Given the description of an element on the screen output the (x, y) to click on. 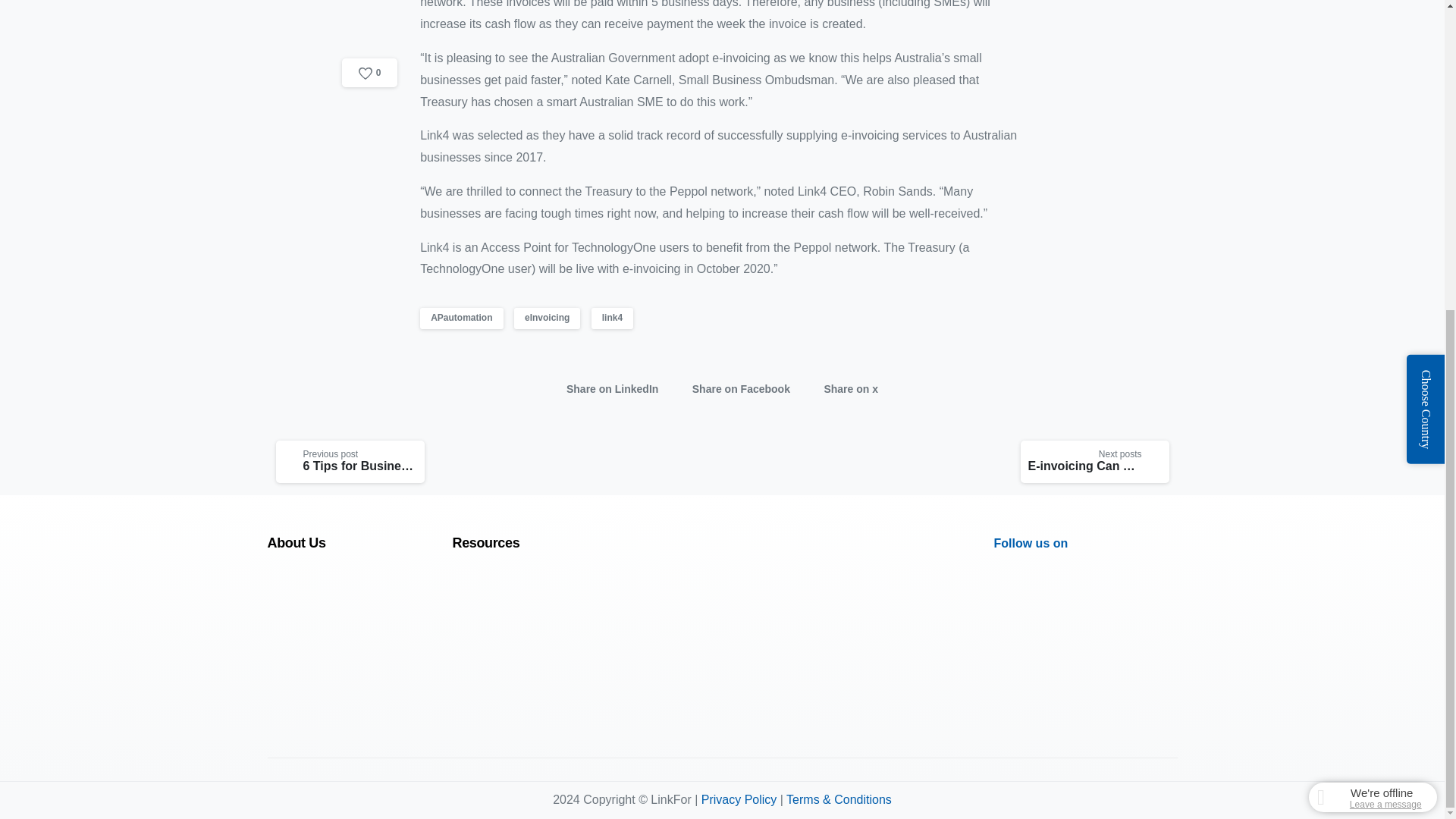
Share on x (846, 389)
Share on Facebook (737, 389)
eInvoicing (546, 318)
Share on LinkedIn (608, 389)
Share on LinkedIn (608, 389)
APautomation (461, 318)
link4 (612, 318)
